Given the description of an element on the screen output the (x, y) to click on. 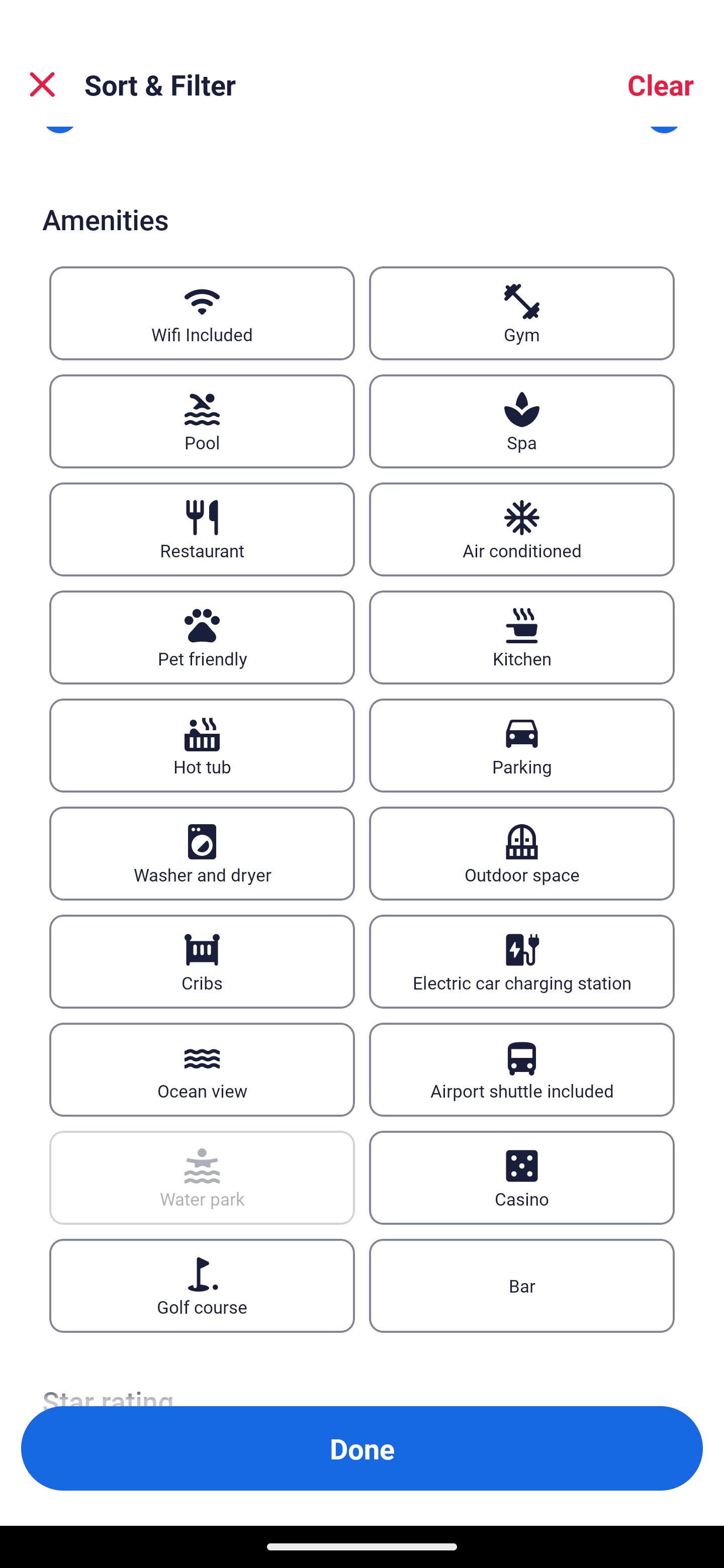
Close Sort and Filter (42, 84)
Clear (660, 84)
Wifi Included (201, 313)
Gym (521, 313)
Pool (201, 421)
Spa (521, 421)
Restaurant (201, 529)
Air conditioned (521, 529)
Pet friendly (201, 638)
Kitchen (521, 638)
Hot tub (201, 745)
Parking (521, 745)
Washer and dryer (201, 852)
Outdoor space (521, 852)
Cribs (201, 961)
Electric car charging station (521, 961)
Ocean view (201, 1069)
Airport shuttle included (521, 1069)
Water park (201, 1177)
Casino (521, 1177)
Golf course (201, 1285)
Bar (521, 1285)
Apply and close Sort and Filter Done (361, 1448)
